Given the description of an element on the screen output the (x, y) to click on. 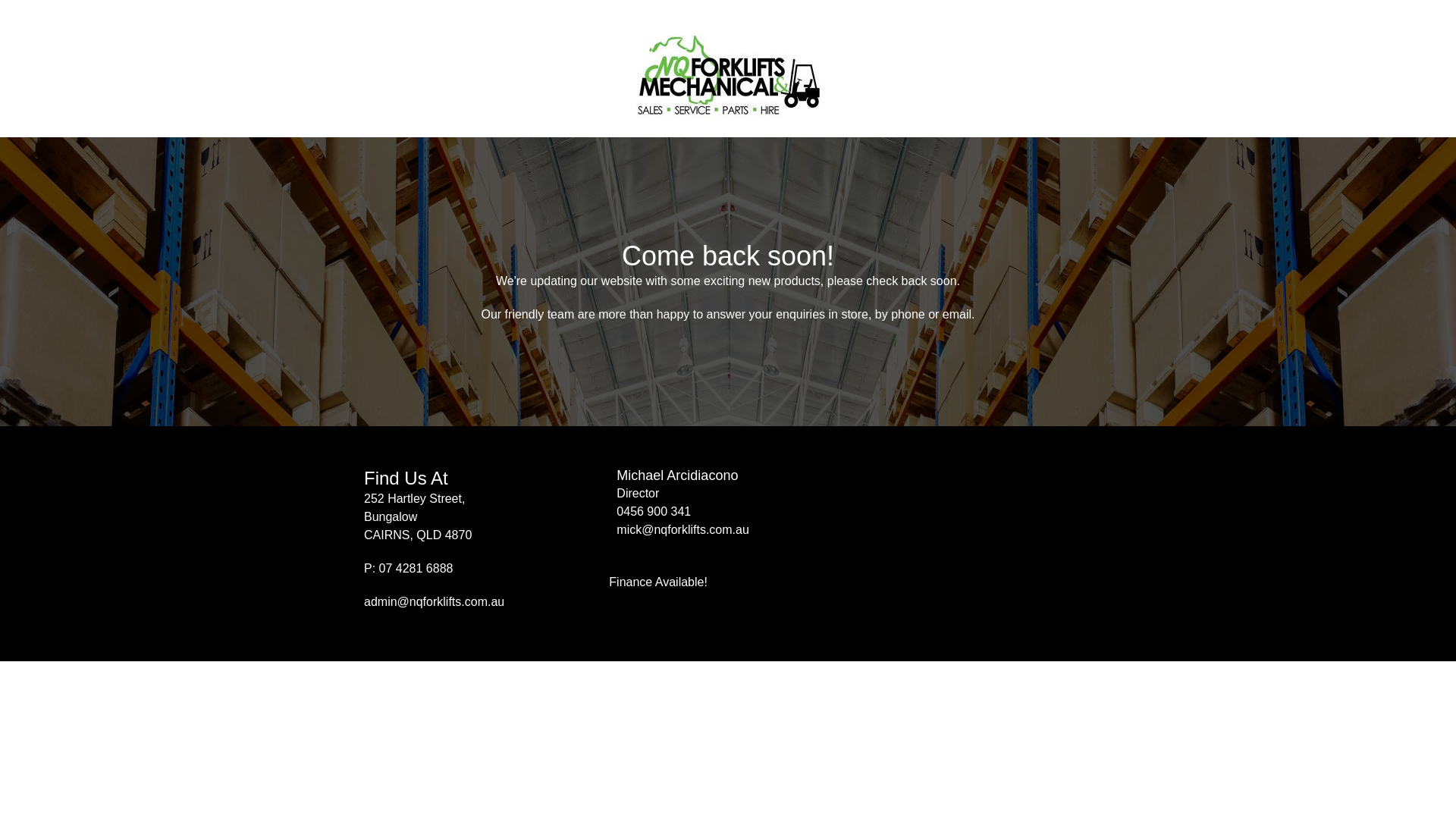
mick@nqforklifts.com.au Element type: text (682, 529)
0456 900 341 Element type: text (653, 511)
admin@nqforklifts.com.au Element type: text (434, 601)
